Given the description of an element on the screen output the (x, y) to click on. 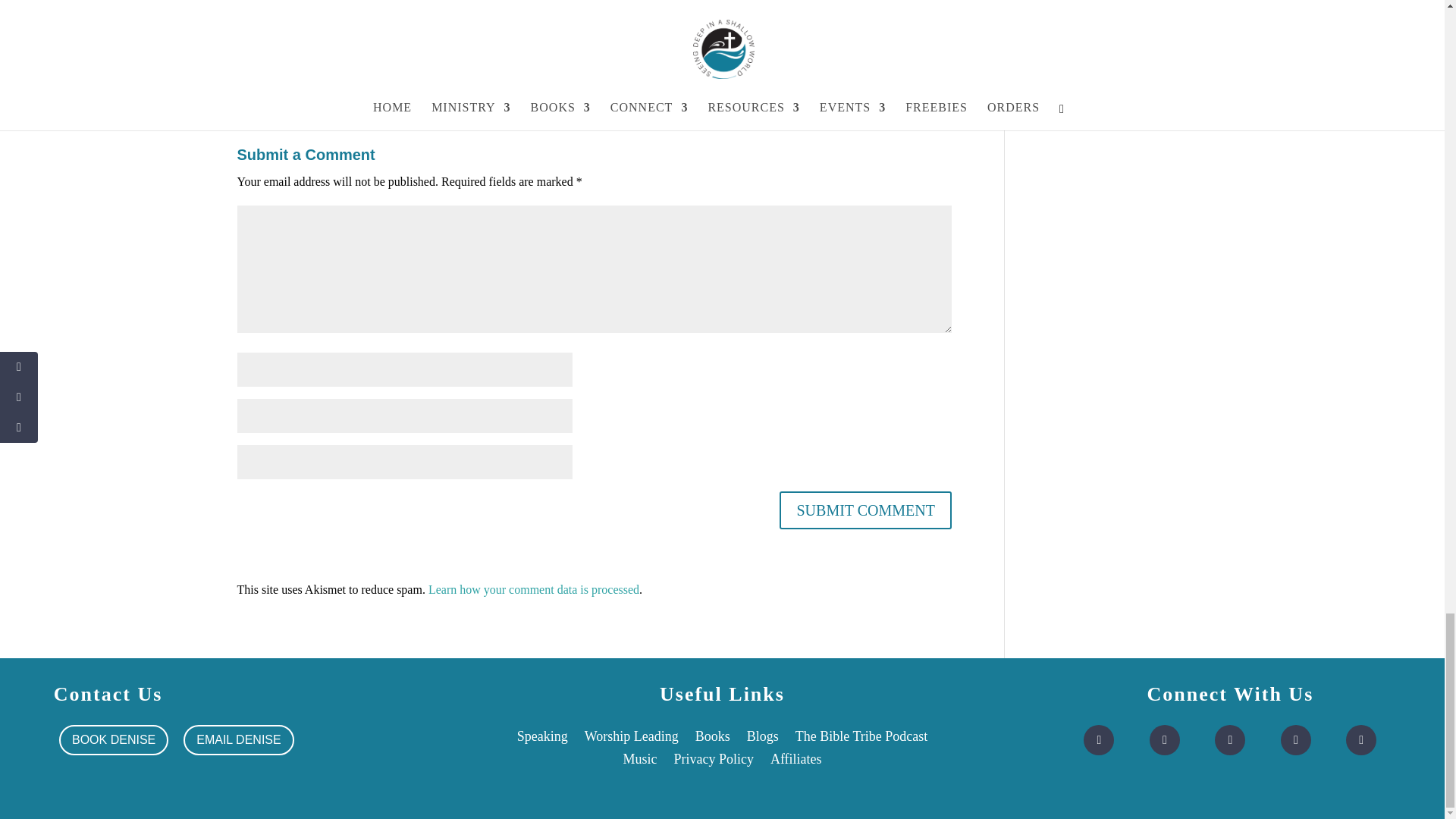
Submit Comment (864, 510)
